Given the description of an element on the screen output the (x, y) to click on. 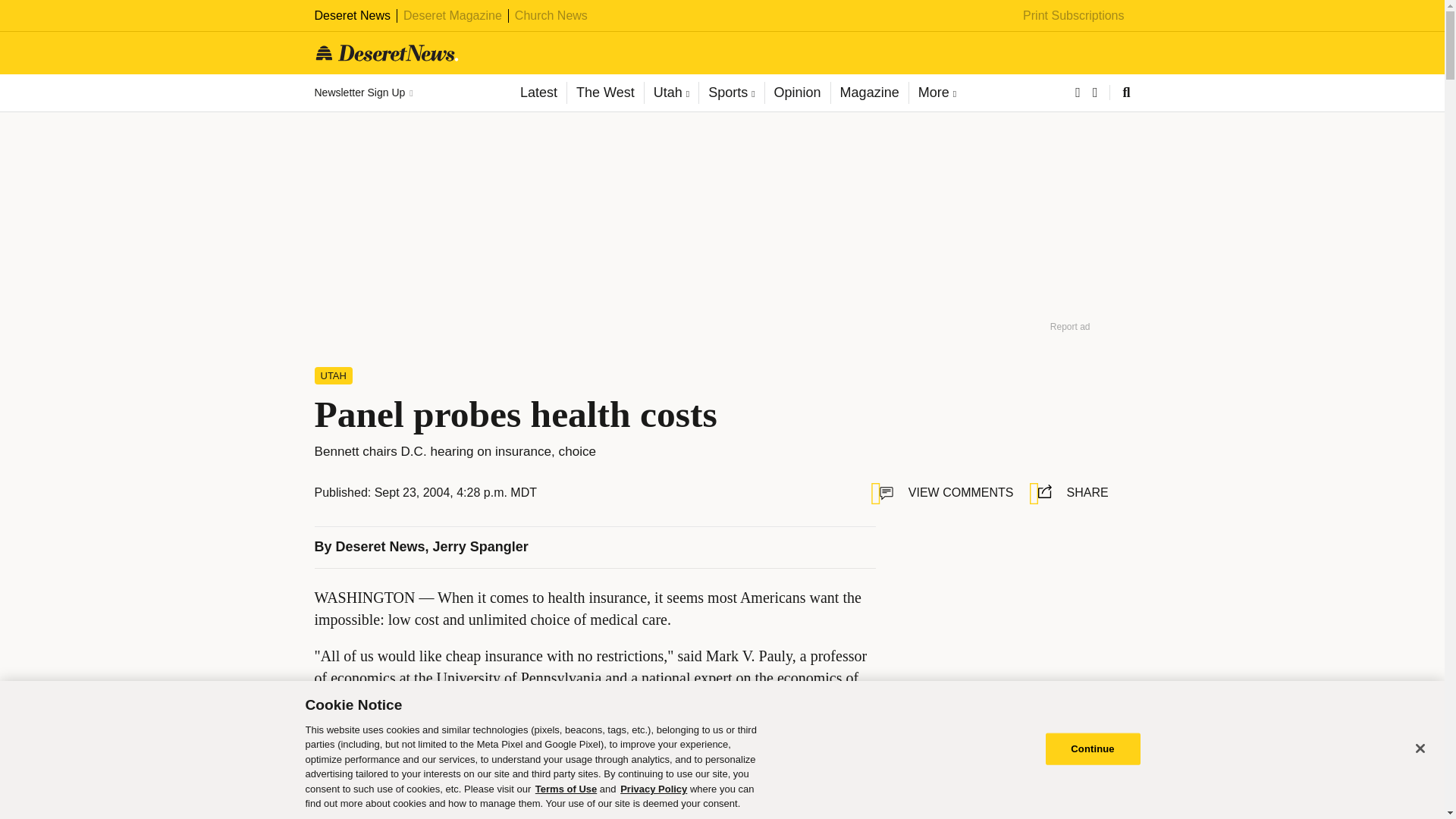
Magazine (868, 92)
Deseret News (380, 546)
Newsletter Sign Up (363, 92)
UTAH (333, 375)
Deseret Magazine (452, 15)
Deseret News (352, 15)
3rd party ad content (1008, 620)
3rd party ad content (594, 812)
Report ad (1102, 728)
The West (604, 92)
Report ad (1069, 326)
Latest (538, 92)
Church News (551, 15)
Sports (730, 92)
